Given the description of an element on the screen output the (x, y) to click on. 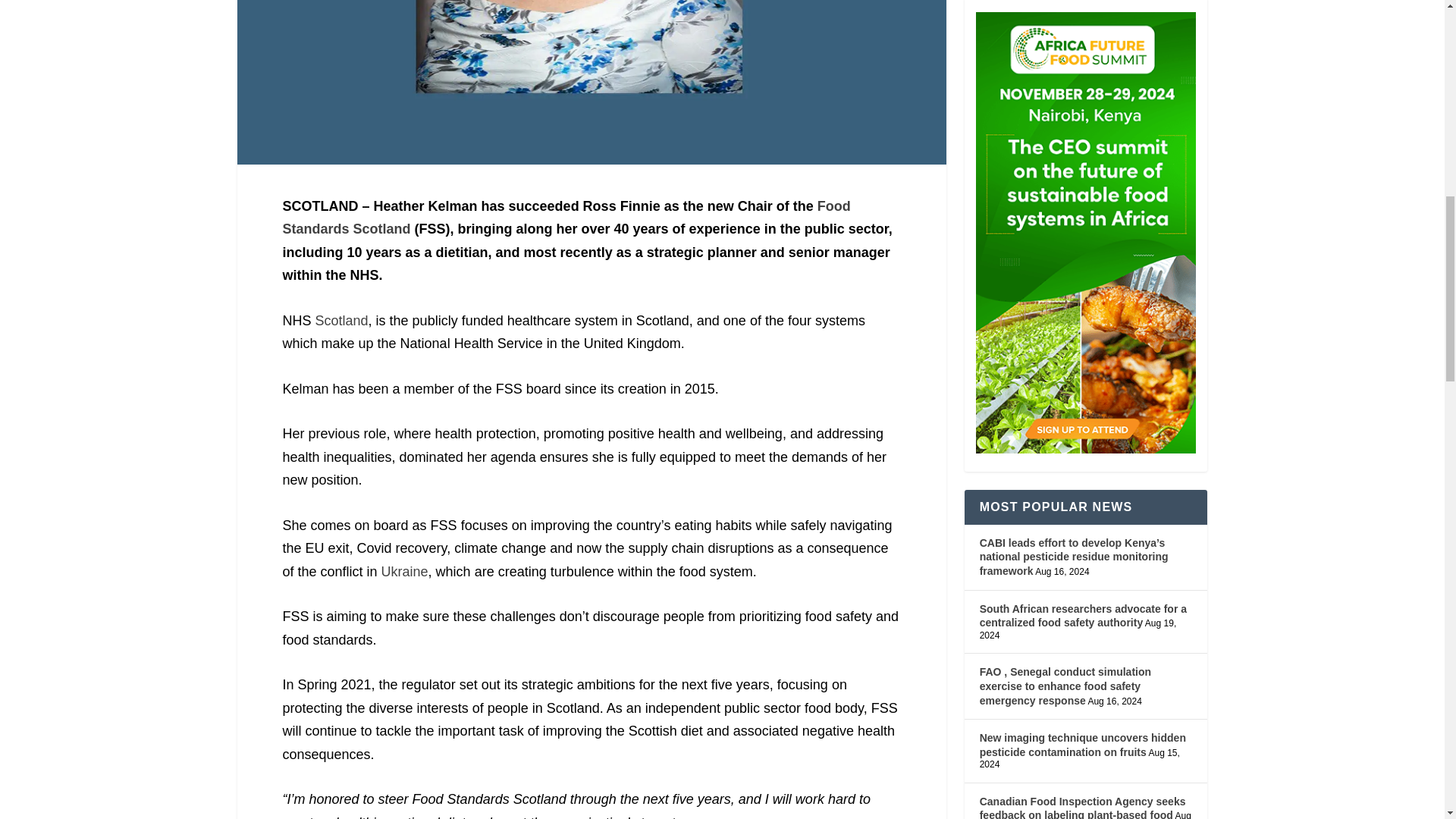
Food Standards Scotland (566, 218)
Ukraine (404, 571)
Scotland (341, 320)
